Given the description of an element on the screen output the (x, y) to click on. 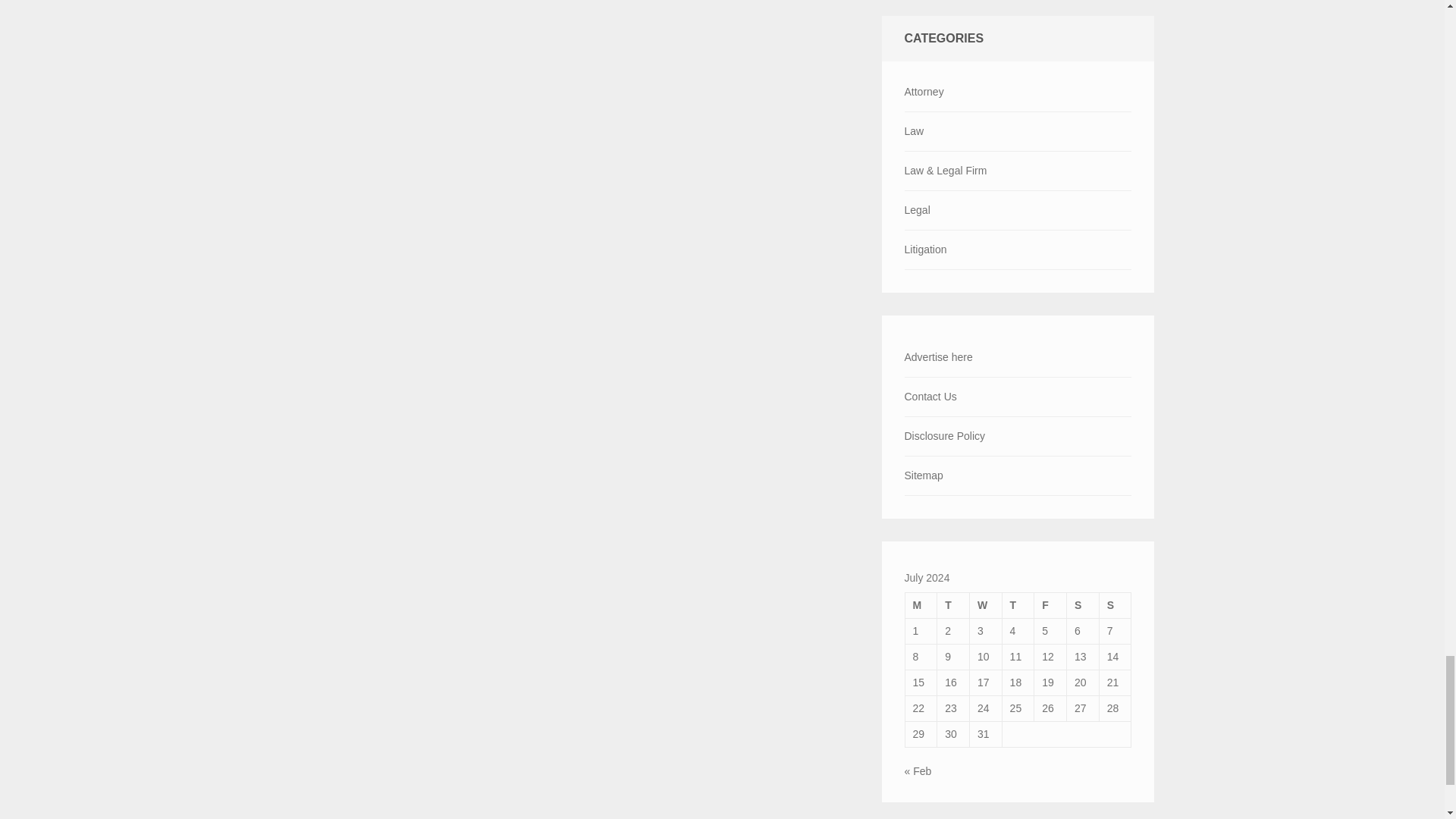
Thursday (1017, 605)
Friday (1050, 605)
Tuesday (953, 605)
Saturday (1083, 605)
Wednesday (985, 605)
Sunday (1115, 605)
Monday (920, 605)
